Given the description of an element on the screen output the (x, y) to click on. 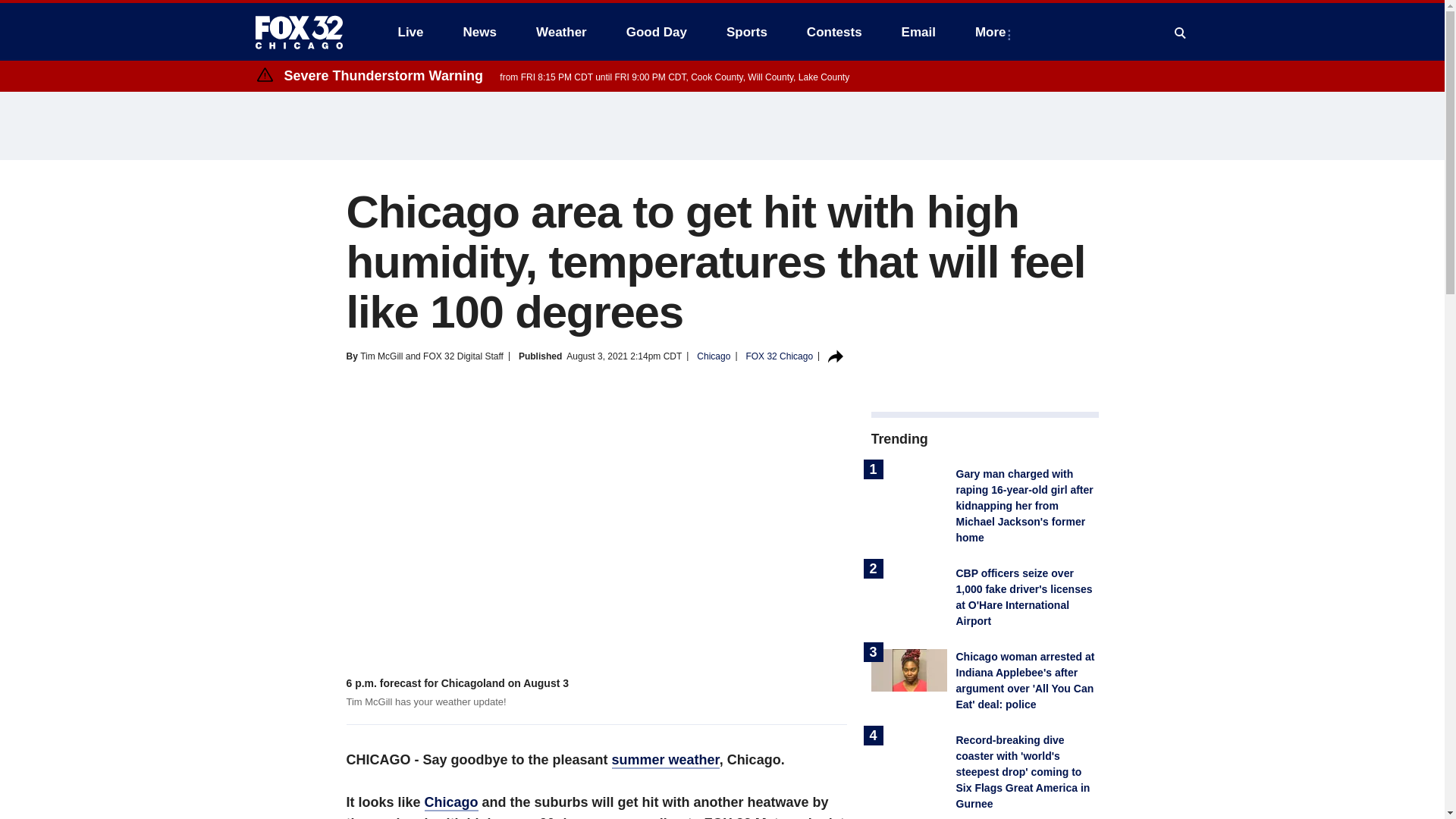
News (479, 32)
Weather (561, 32)
Email (918, 32)
More (993, 32)
Good Day (656, 32)
Contests (834, 32)
Live (410, 32)
Sports (746, 32)
